Given the description of an element on the screen output the (x, y) to click on. 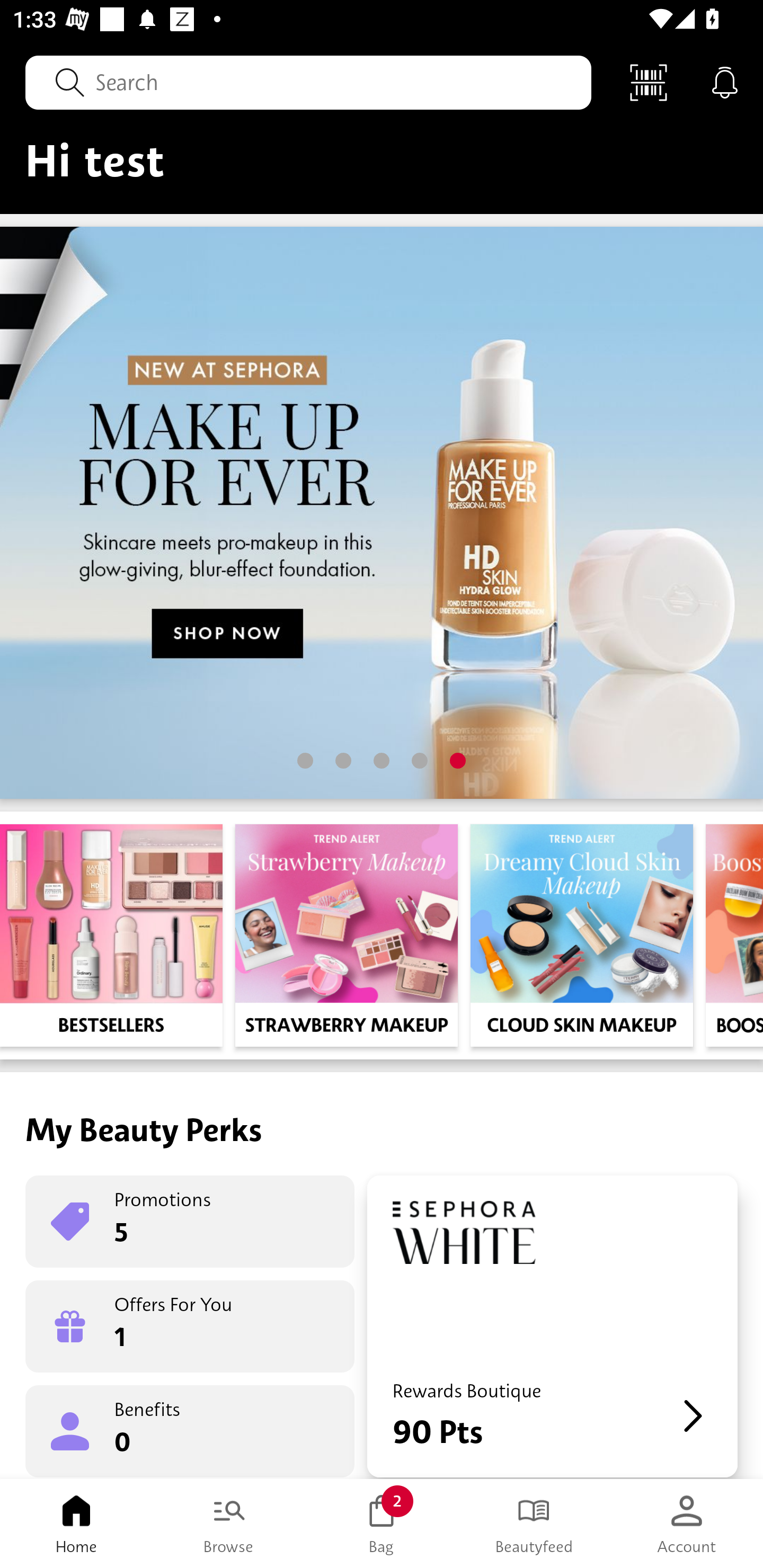
Scan Code (648, 81)
Notifications (724, 81)
Search (308, 81)
Promotions 5 (189, 1221)
Rewards Boutique 90 Pts (552, 1326)
Offers For You 1 (189, 1326)
Benefits 0 (189, 1430)
Browse (228, 1523)
Bag 2 Bag (381, 1523)
Beautyfeed (533, 1523)
Account (686, 1523)
